Given the description of an element on the screen output the (x, y) to click on. 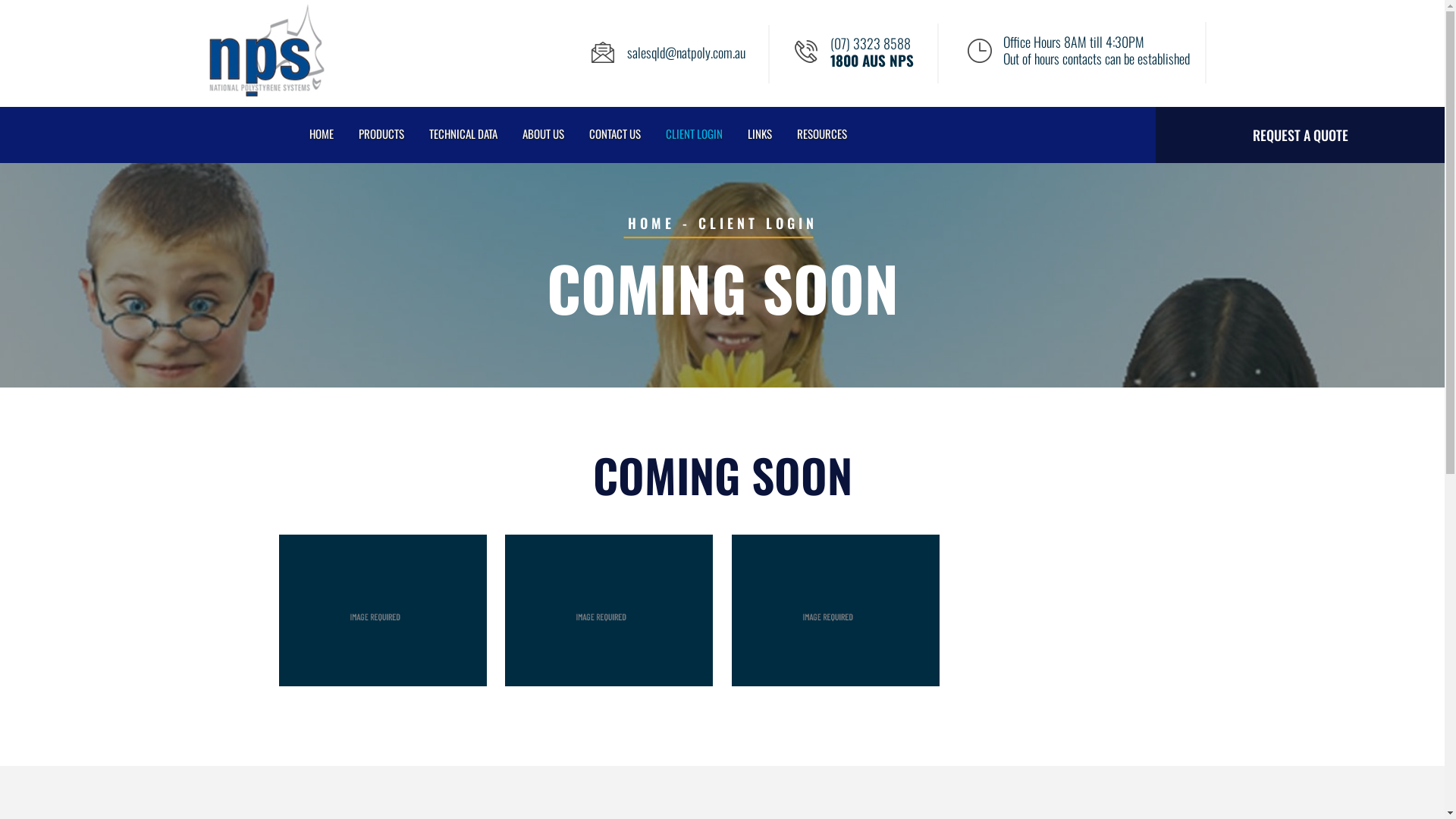
HOME Element type: text (650, 222)
1800 AUS NPS Element type: text (871, 59)
ABOUT US Element type: text (542, 133)
REQUEST A QUOTE Element type: text (1299, 134)
HOME Element type: text (320, 133)
National Polystyrene Systems Element type: hover (265, 93)
CONTACT US Element type: text (614, 133)
(07) 3323 8588 Element type: text (870, 43)
salesqld@natpoly.com.au Element type: text (686, 52)
RESOURCES Element type: text (821, 133)
PRODUCTS Element type: text (380, 133)
CLIENT LOGIN Element type: text (693, 133)
TECHNICAL DATA Element type: text (462, 133)
LINKS Element type: text (759, 133)
